Given the description of an element on the screen output the (x, y) to click on. 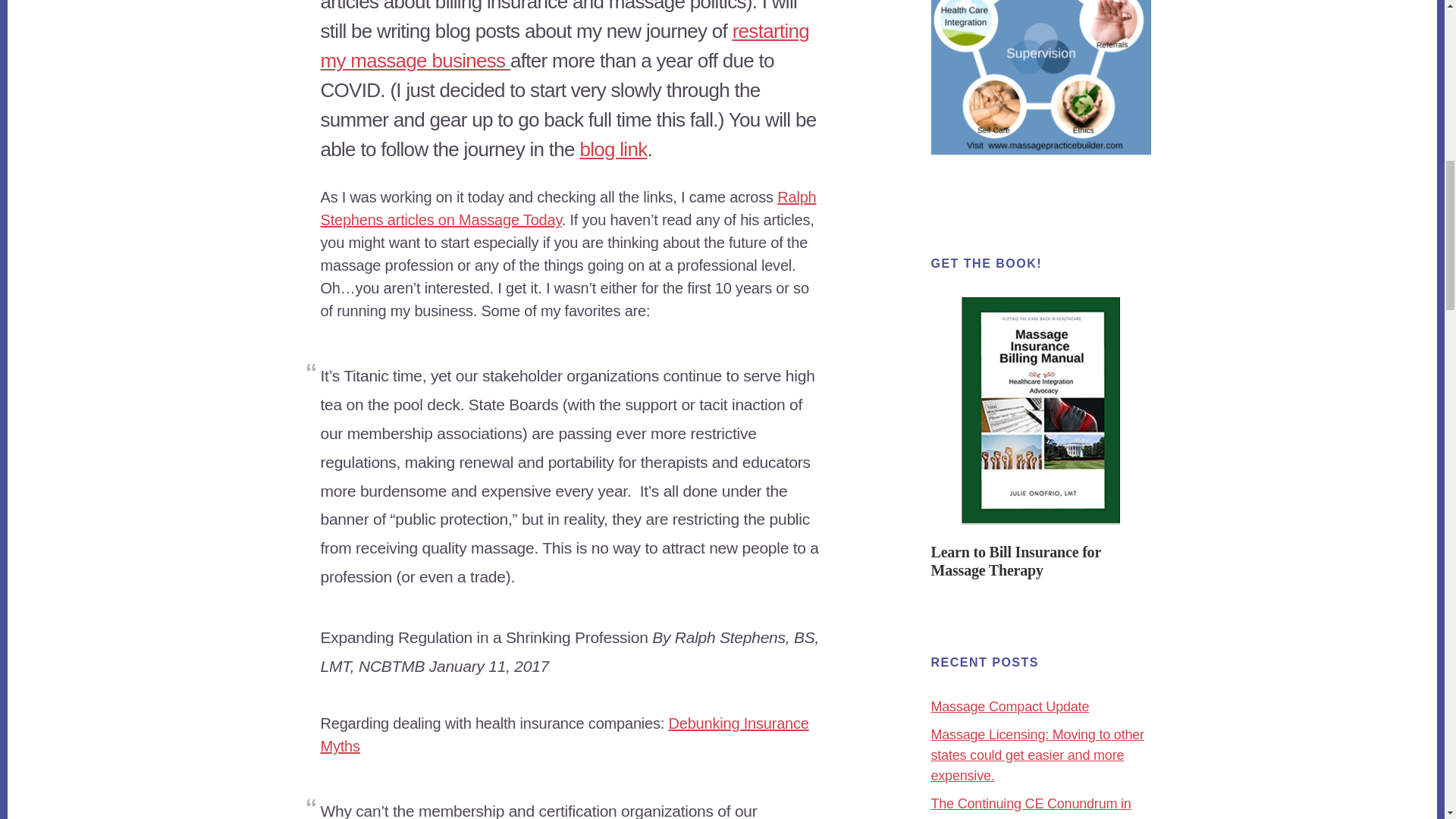
Ralph Stephens articles on Massage Today (567, 208)
Debunking Insurance Myths (564, 734)
restarting my massage business (564, 45)
blog link (612, 149)
